Given the description of an element on the screen output the (x, y) to click on. 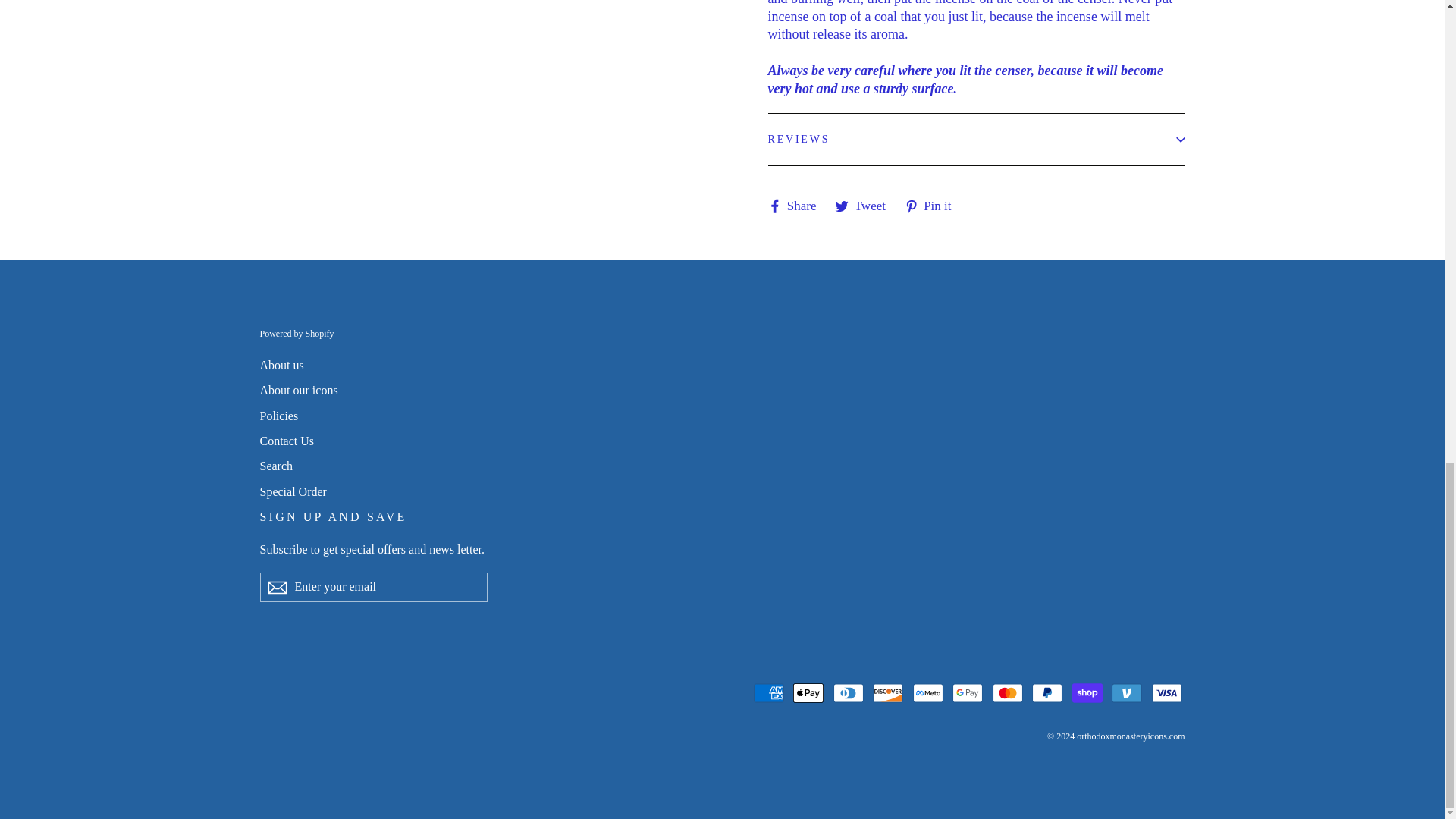
Apple Pay (808, 693)
Share on Facebook (797, 205)
American Express (769, 693)
Pin on Pinterest (933, 205)
Tweet on Twitter (865, 205)
